Given the description of an element on the screen output the (x, y) to click on. 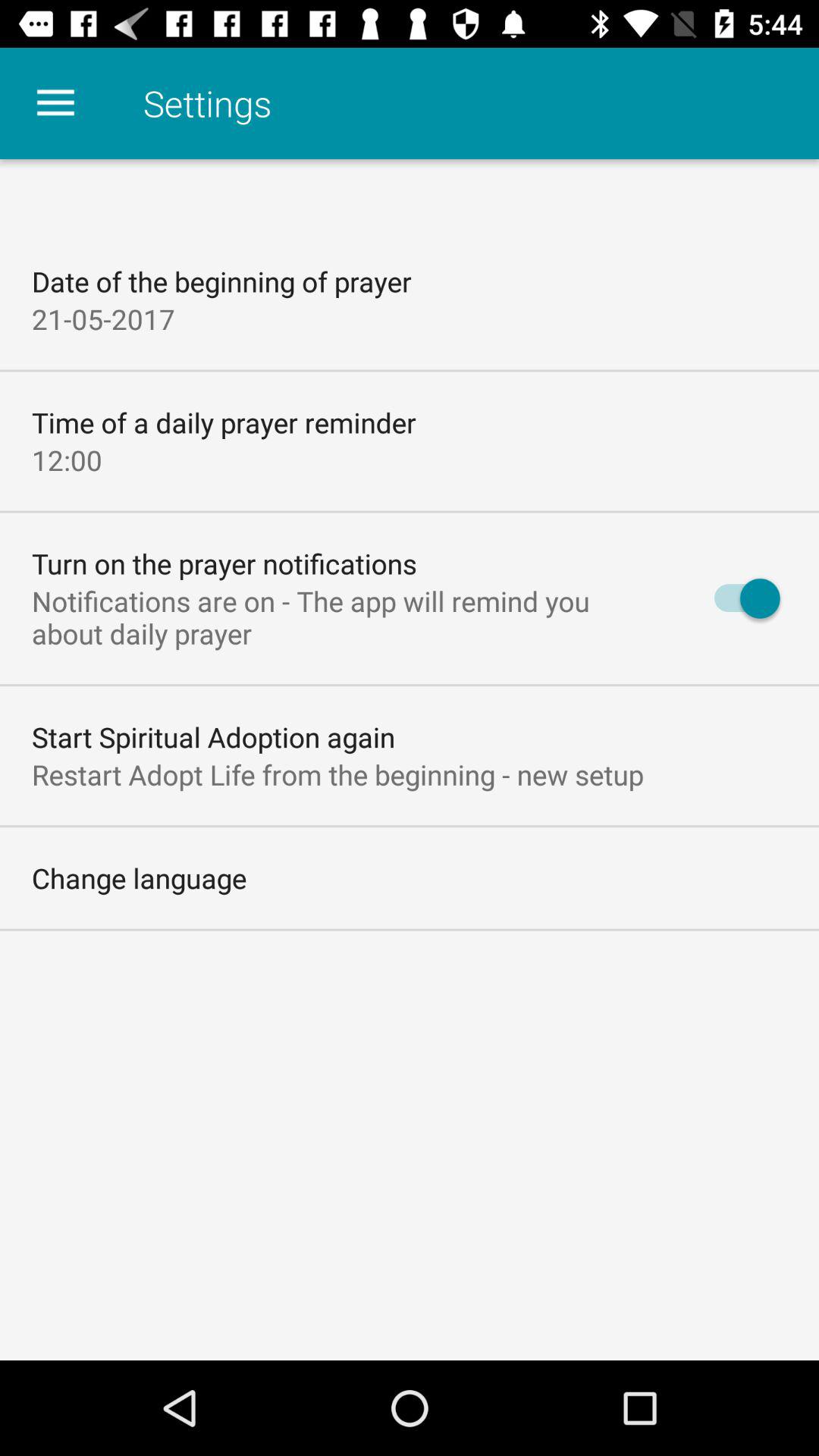
turn on date of the item (221, 281)
